Given the description of an element on the screen output the (x, y) to click on. 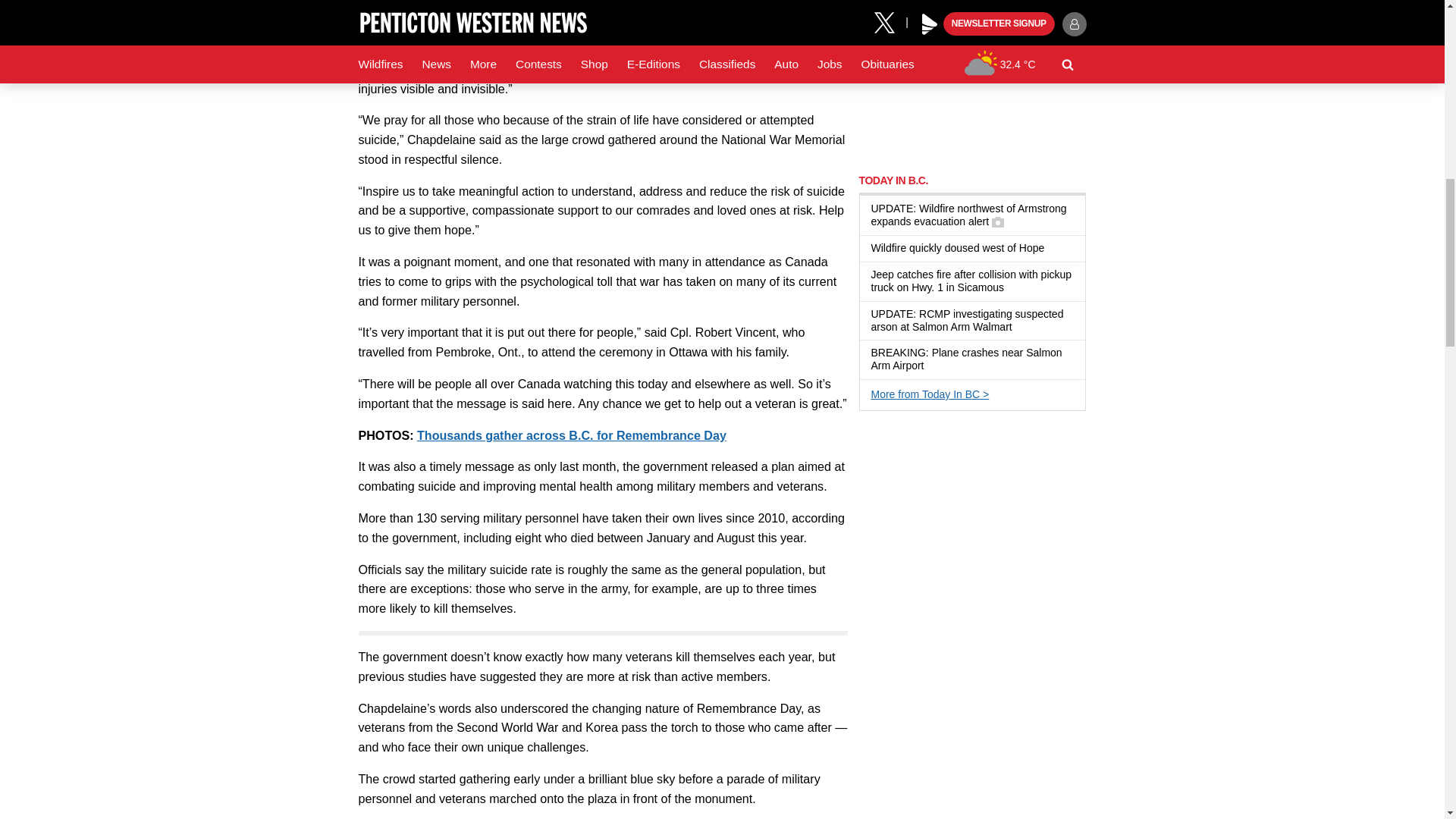
Has a gallery (997, 222)
